Given the description of an element on the screen output the (x, y) to click on. 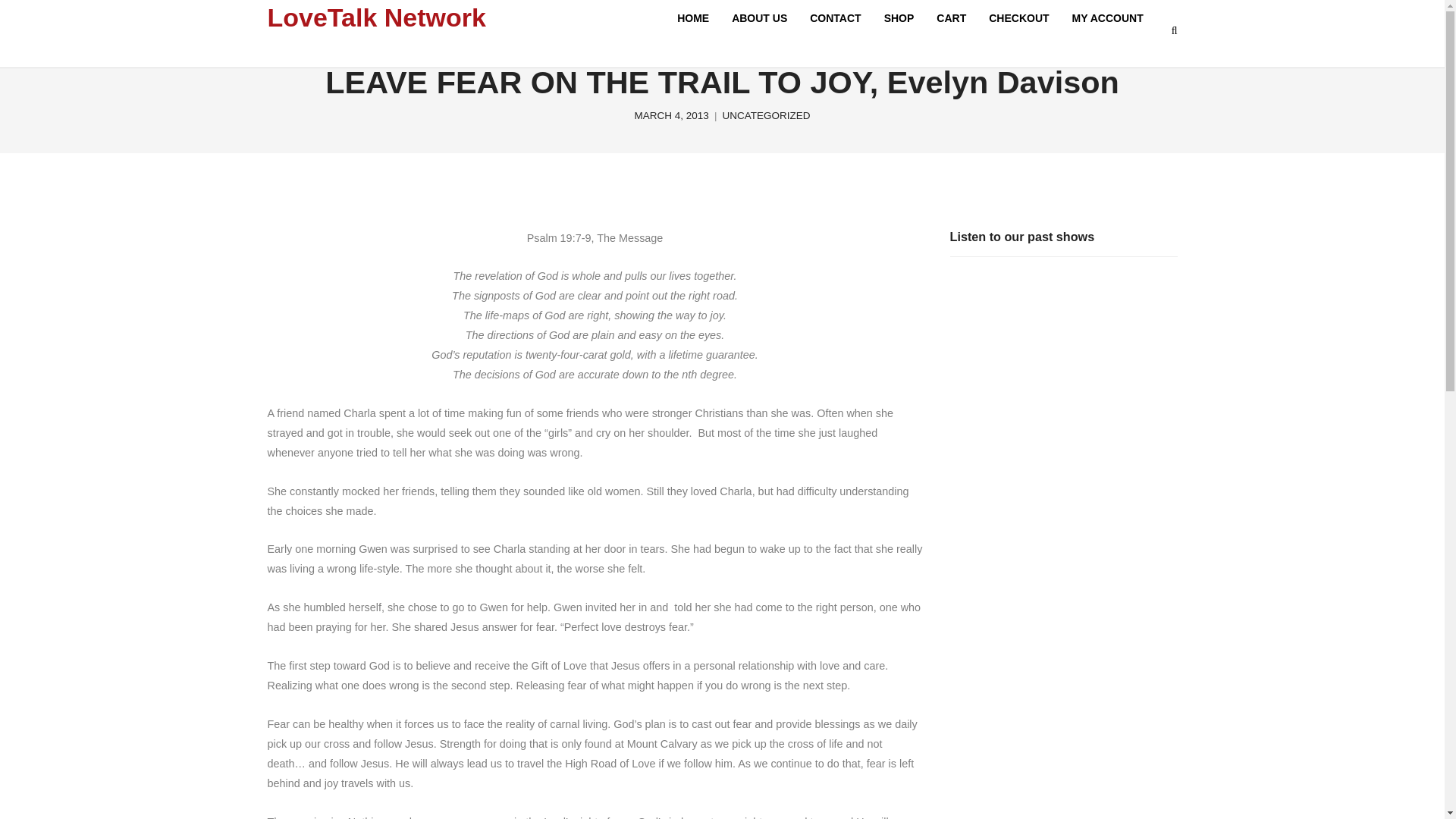
LoveTalk Network (375, 18)
CART (950, 18)
View all posts in Uncategorized (765, 115)
CHECKOUT (1017, 18)
UNCATEGORIZED (765, 115)
ABOUT US (758, 18)
MY ACCOUNT (1107, 18)
CONTACT (834, 18)
HOME (692, 18)
SHOP (899, 18)
